Given the description of an element on the screen output the (x, y) to click on. 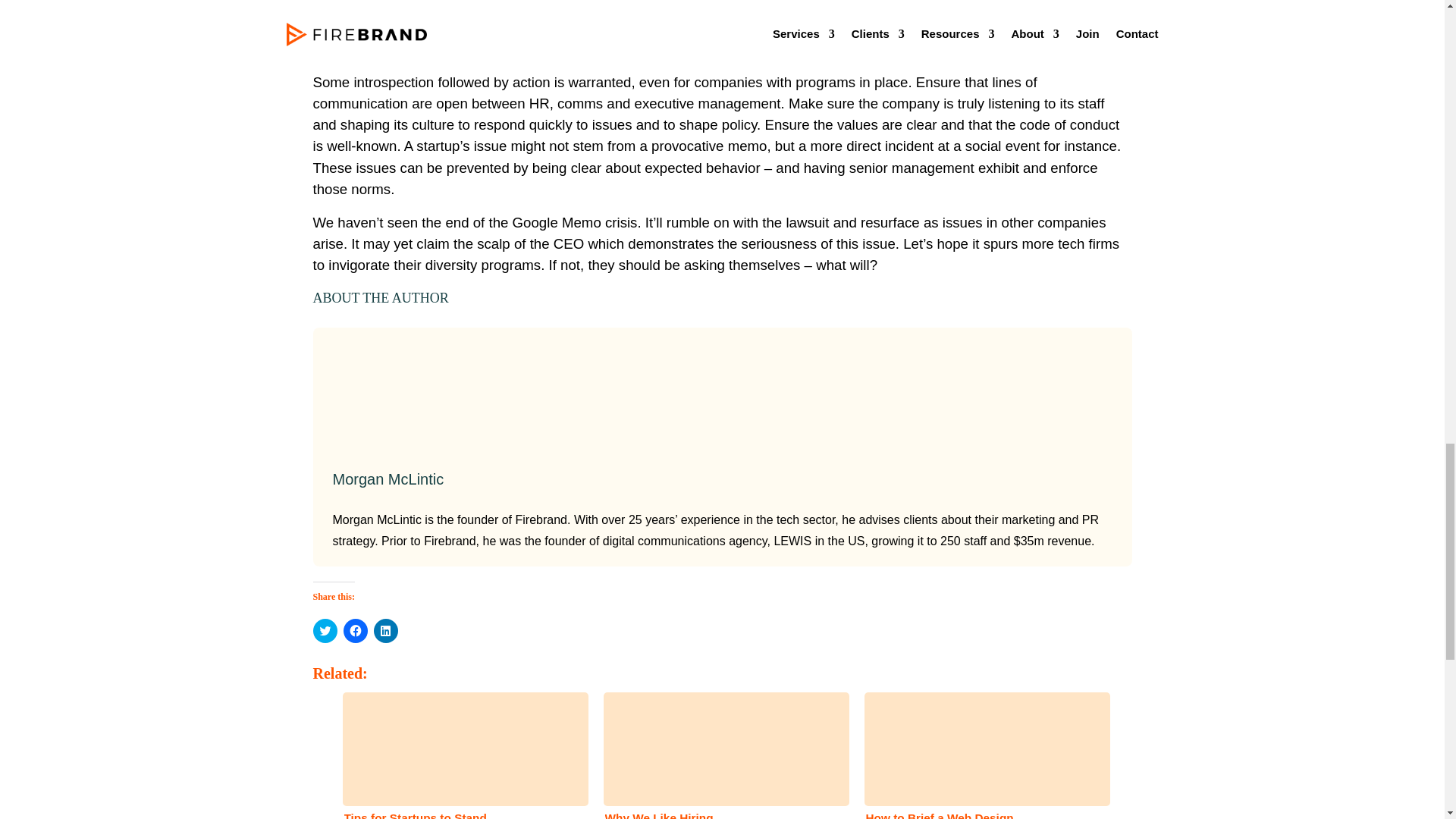
Tips for Startups to Stand Out in Media Coverage of CES (460, 753)
Click to share on Twitter (324, 630)
Morgan McLintic (387, 478)
Click to share on Facebook (354, 630)
Click to share on LinkedIn (384, 630)
Why We Like Hiring Freelancers (721, 753)
How to Brief a Web Design Agency (982, 753)
